Given the description of an element on the screen output the (x, y) to click on. 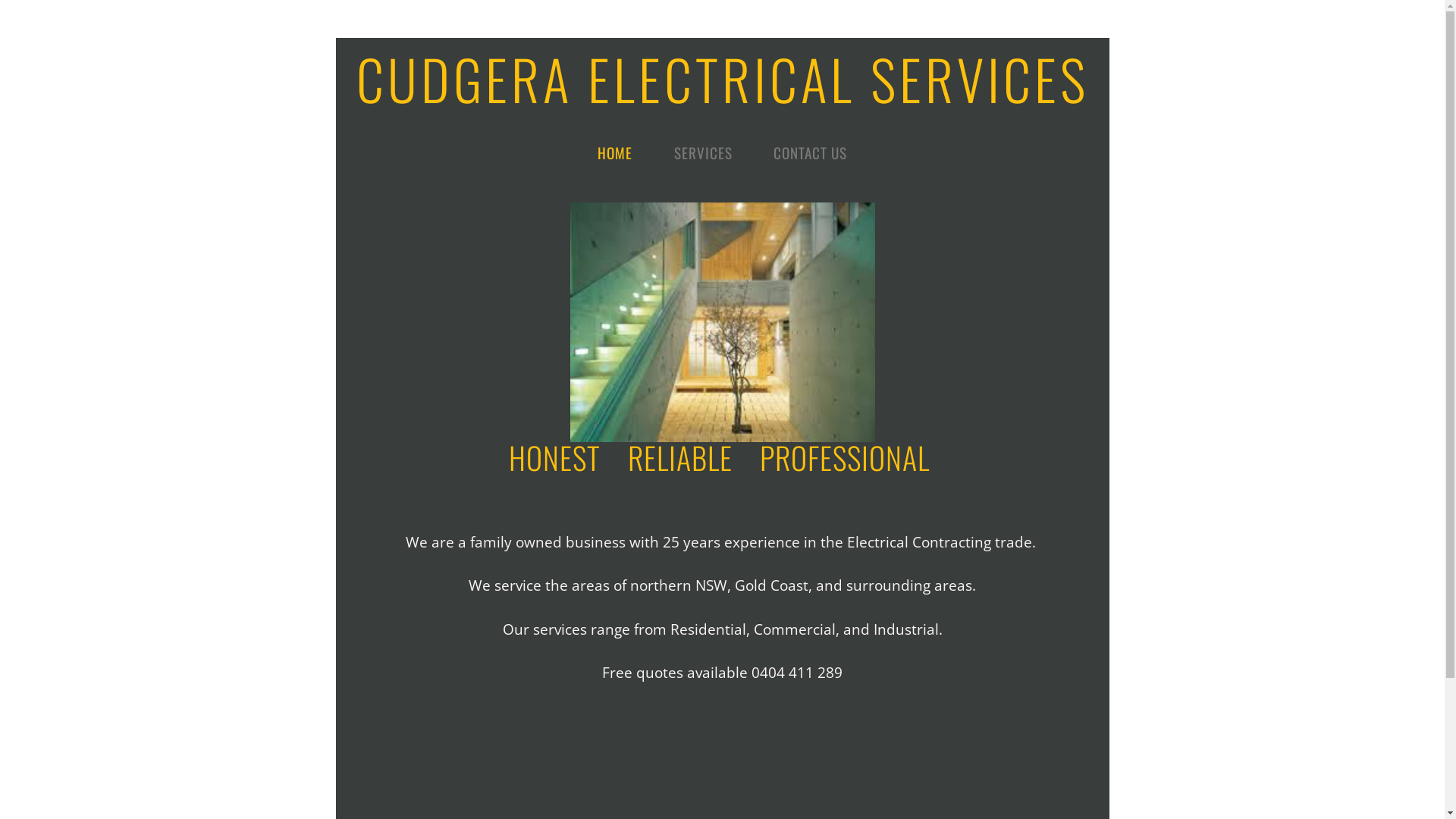
HOME Element type: text (614, 152)
CONTACT US Element type: text (810, 152)
CUDGERA ELECTRICAL SERVICES Element type: text (722, 78)
SERVICES Element type: text (702, 152)
